Given the description of an element on the screen output the (x, y) to click on. 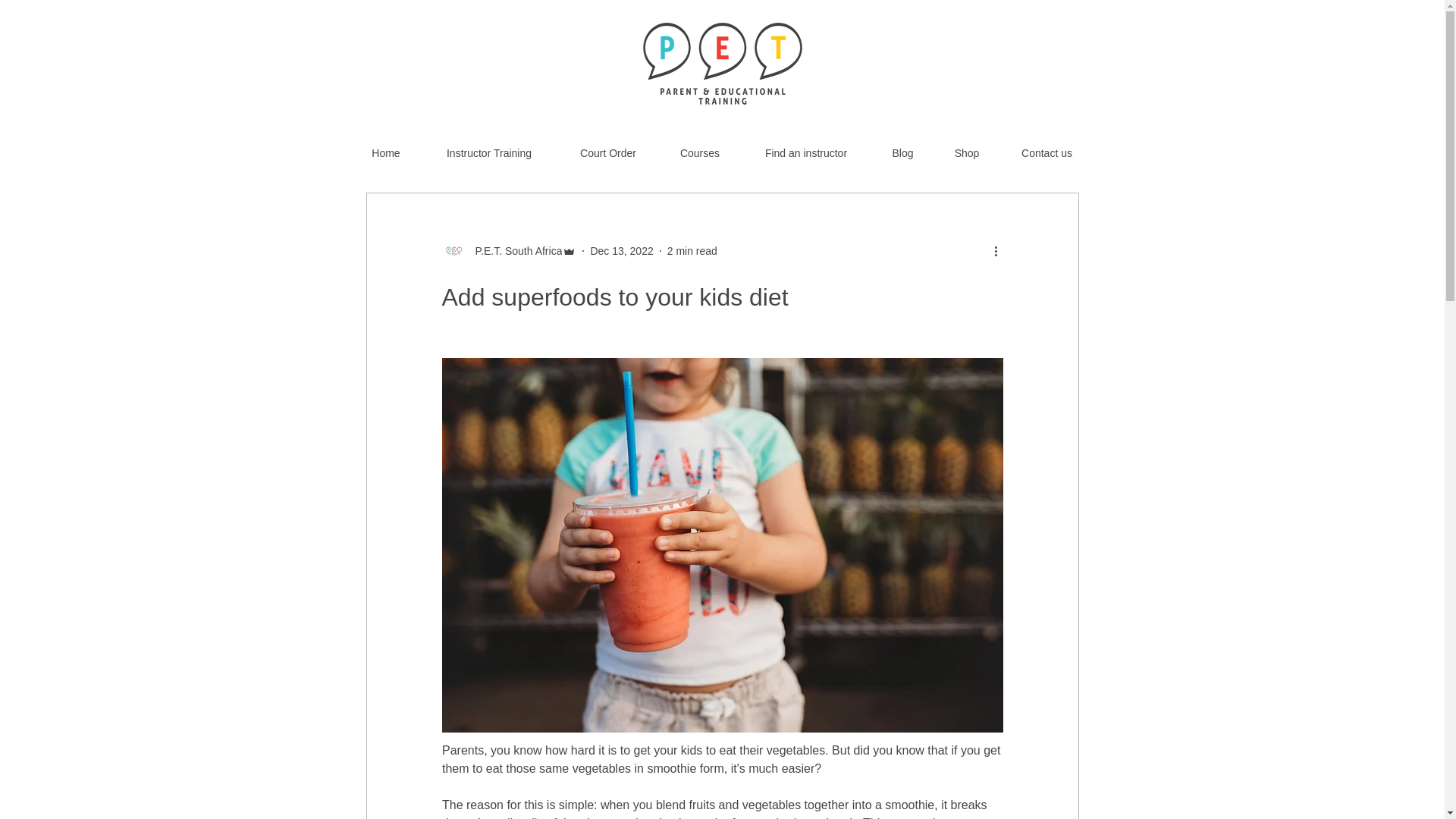
Home (385, 146)
P.E.T. South Africa (513, 250)
Dec 13, 2022 (620, 250)
Court Order (607, 146)
Contact us (1045, 146)
Instructor Training (489, 146)
Shop (967, 146)
2 min read (691, 250)
